Given the description of an element on the screen output the (x, y) to click on. 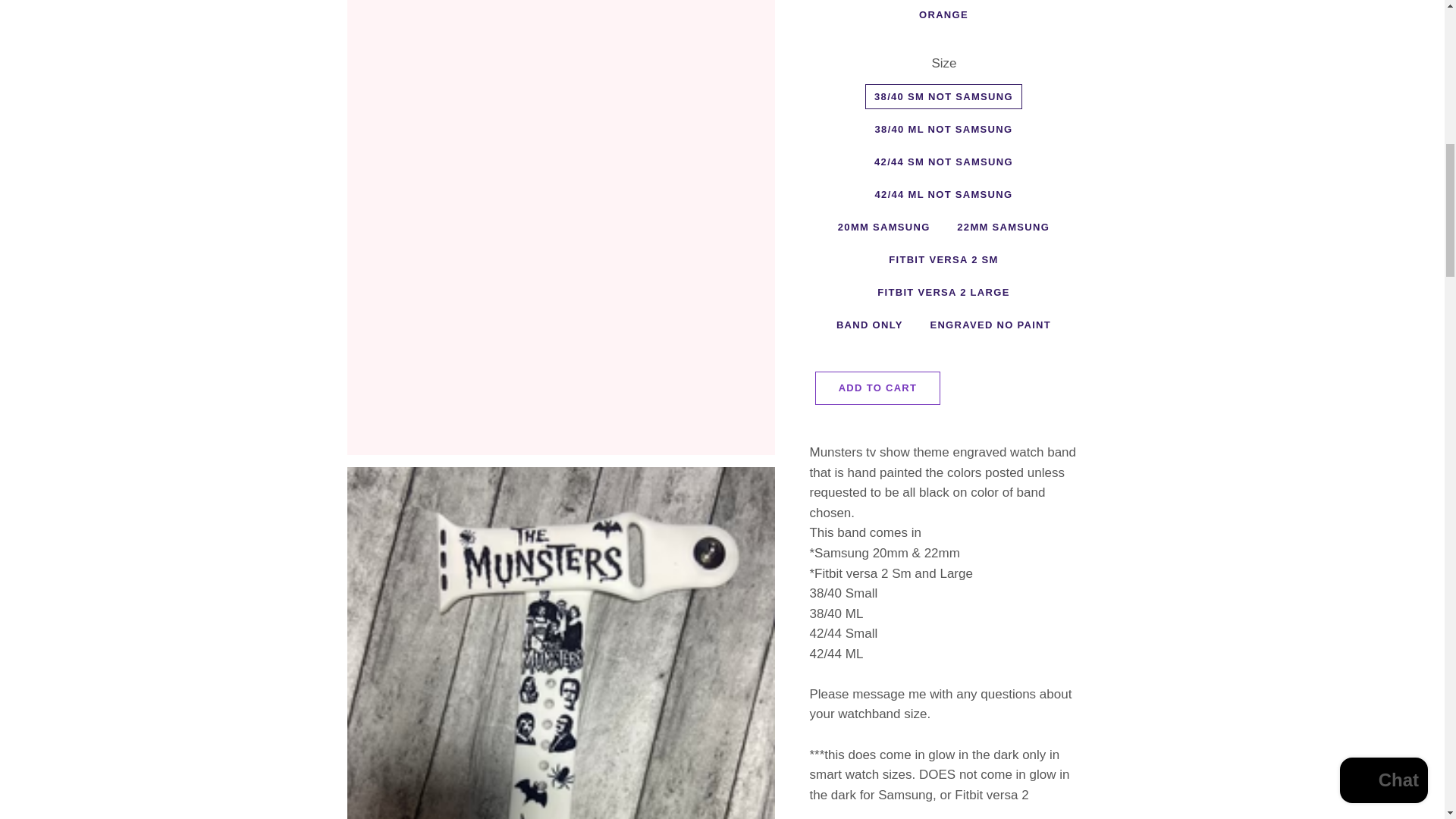
ADD TO CART (877, 387)
